Given the description of an element on the screen output the (x, y) to click on. 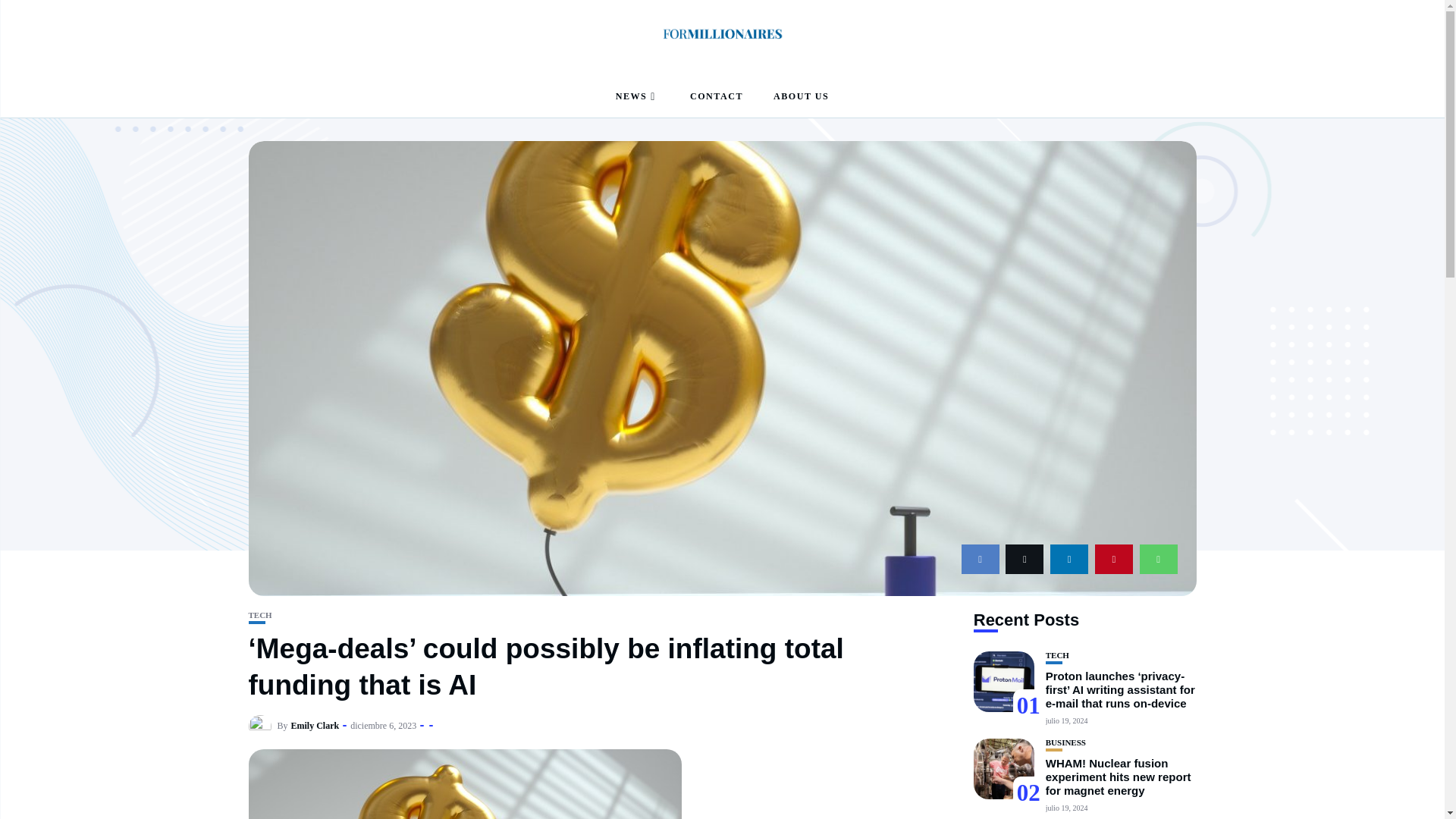
Emily Clark (315, 725)
ABOUT US (800, 96)
BUSINESS (1065, 742)
NEWS (637, 96)
TECH (1056, 655)
facebook (979, 559)
Entradas de Emily Clark (315, 725)
TECH (260, 614)
CONTACT (716, 96)
